Given the description of an element on the screen output the (x, y) to click on. 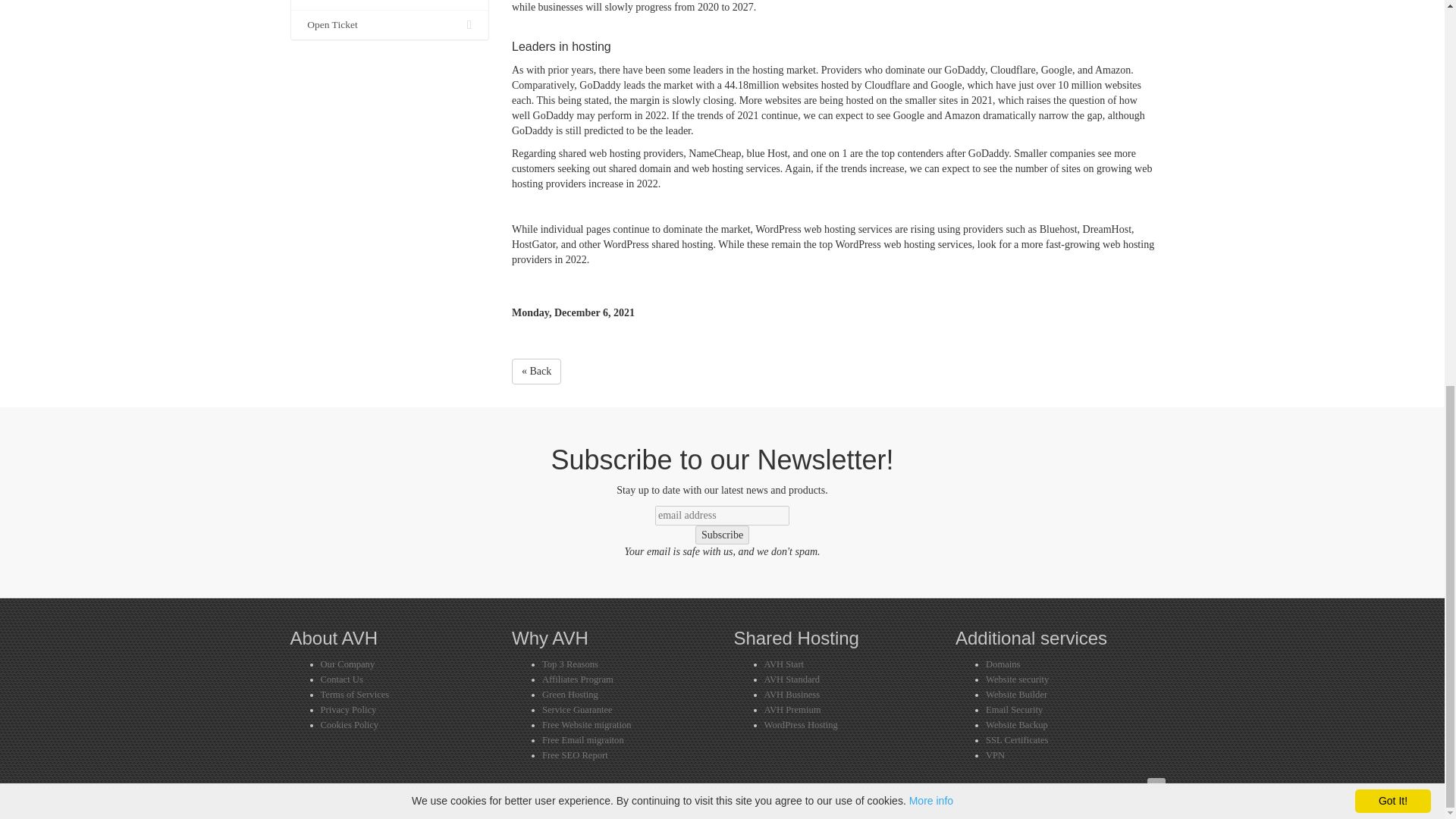
Subscribe (722, 535)
